Given the description of an element on the screen output the (x, y) to click on. 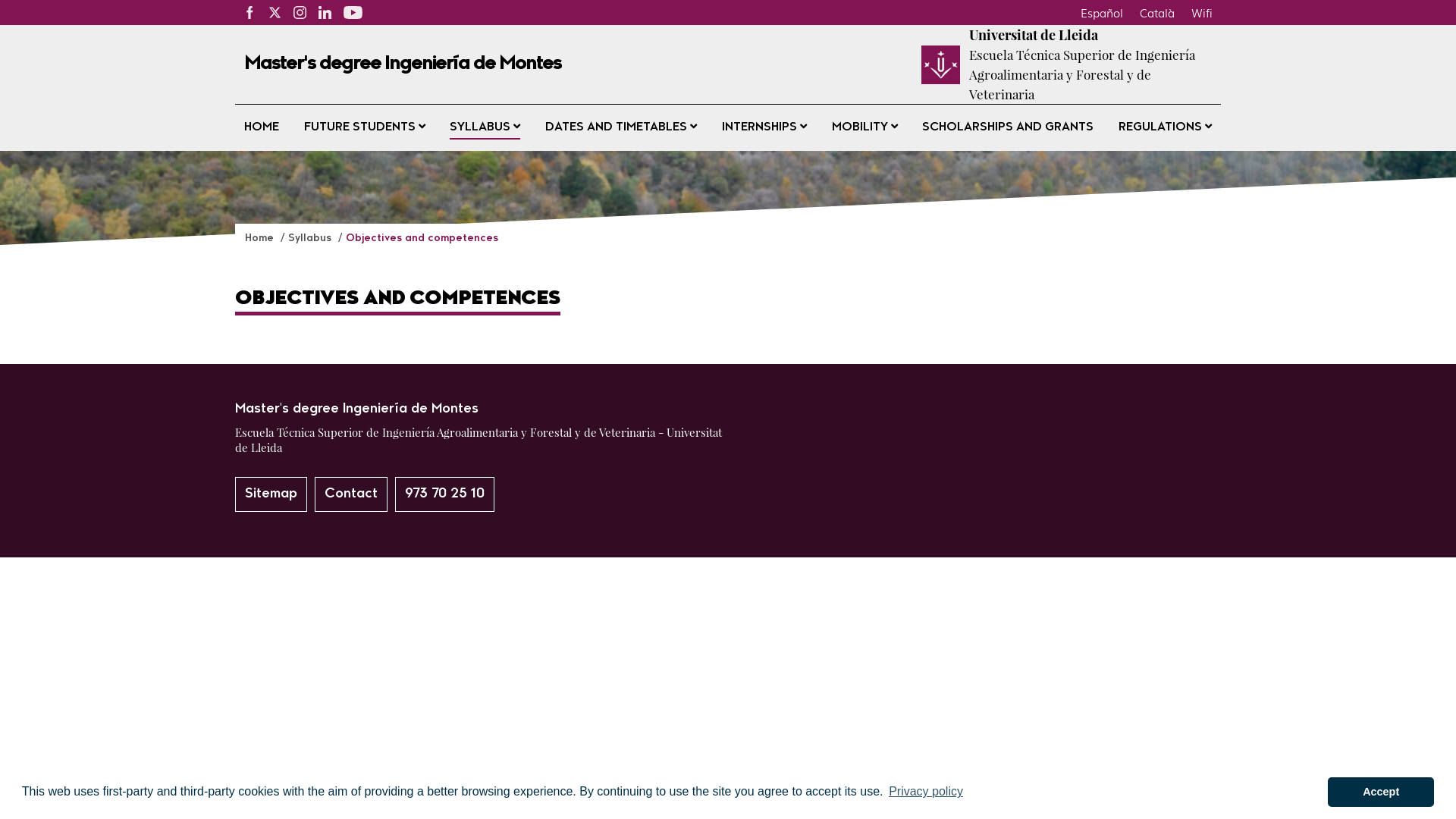
Wifi Element type: text (1201, 12)
Privacy policy Element type: text (925, 791)
Objectives and competences Element type: text (421, 238)
SYLLABUS Element type: text (484, 127)
HOME Element type: text (261, 127)
SCHOLARSHIPS AND GRANTS Element type: text (1007, 127)
Contact Element type: text (350, 493)
MOBILITY Element type: text (864, 127)
INTERNSHIPS Element type: text (763, 127)
DATES AND TIMETABLES Element type: text (621, 127)
Home Element type: text (260, 238)
973 70 25 10 Element type: text (444, 493)
FUTURE STUDENTS Element type: text (364, 127)
REGULATIONS Element type: text (1164, 127)
Syllabus Element type: text (311, 238)
Sitemap Element type: text (271, 493)
Accept Element type: text (1380, 791)
